Given the description of an element on the screen output the (x, y) to click on. 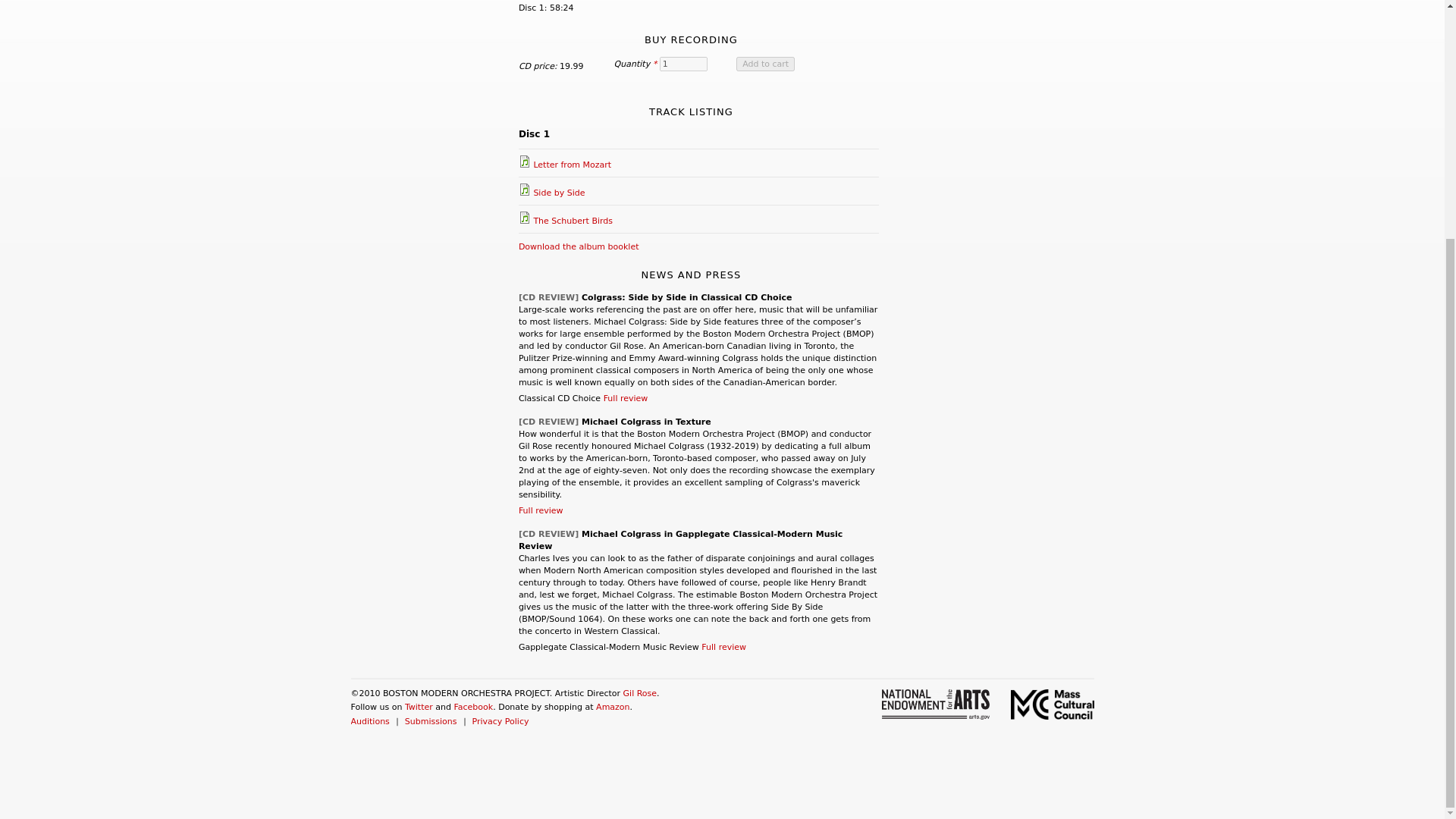
Twitter (418, 706)
Auditions (369, 721)
Michael Colgrass in Texture (645, 421)
Facebook (472, 706)
Submissions (430, 721)
Full review (625, 398)
Colgrass: Side by Side in Classical CD Choice (686, 297)
The Schubert Birds (572, 221)
Full review (723, 646)
Amazon (611, 706)
Gil Rose (640, 693)
Add to cart (765, 63)
Add to cart (765, 63)
Michael Colgrass in Gapplegate Classical-Modern Music Review (680, 540)
Side by Side (558, 193)
